Given the description of an element on the screen output the (x, y) to click on. 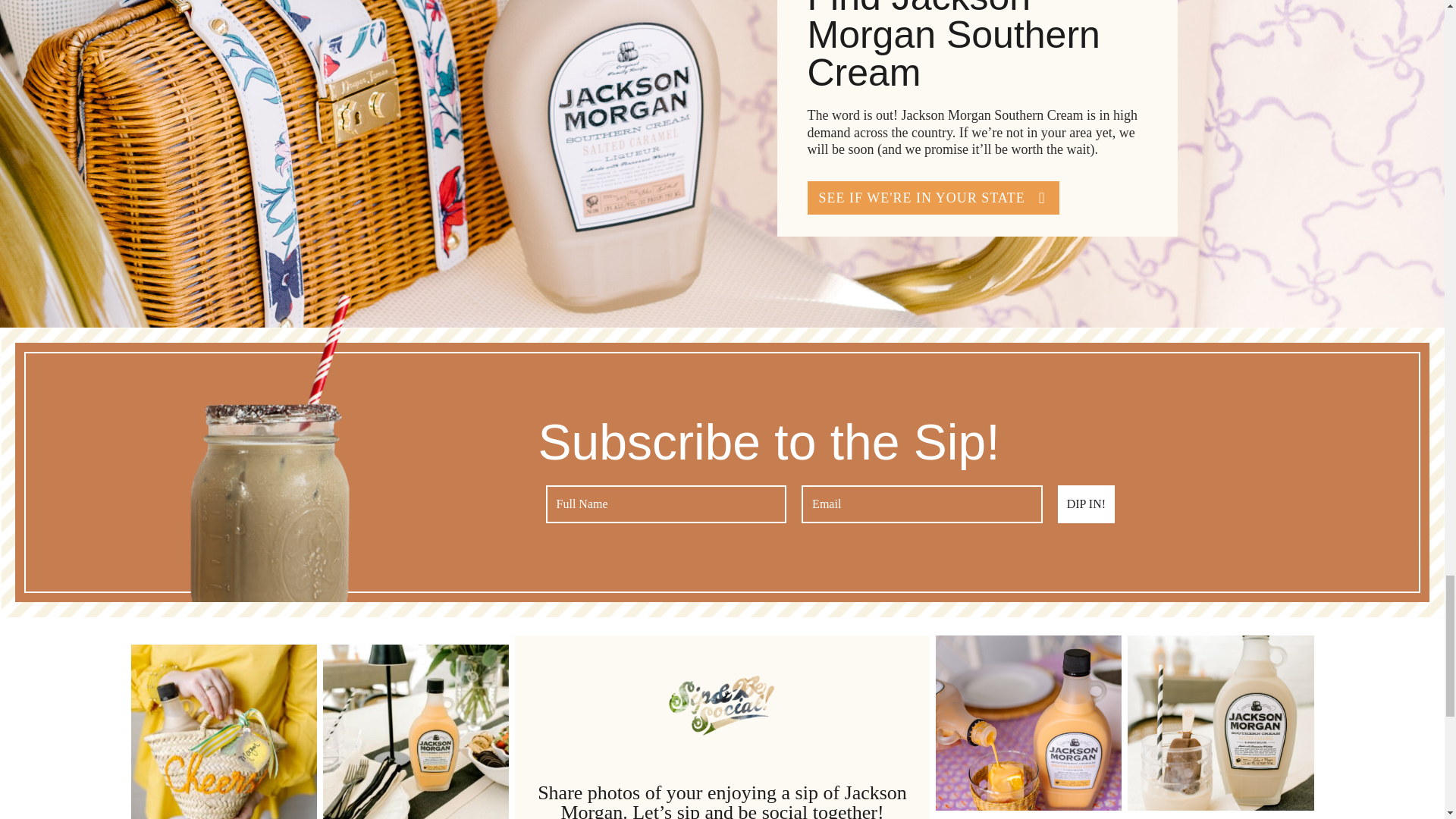
DIP IN! (1086, 504)
